Given the description of an element on the screen output the (x, y) to click on. 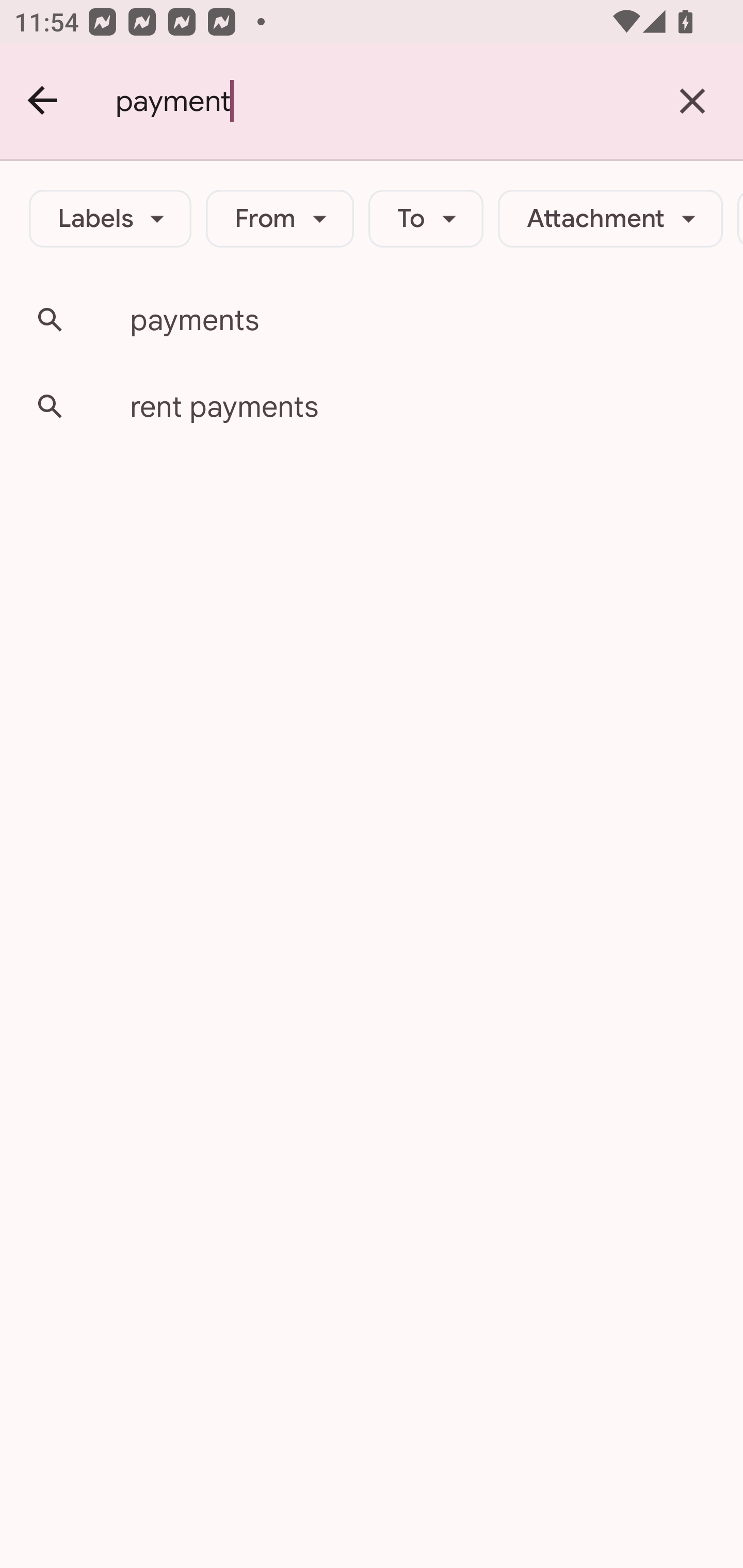
Back (43, 101)
payment (378, 101)
Clear text (692, 101)
Labels (109, 218)
From (279, 218)
To (425, 218)
Attachment (609, 218)
payments Suggestion: payments (371, 319)
rent payments Suggestion: rent payments (371, 406)
